Given the description of an element on the screen output the (x, y) to click on. 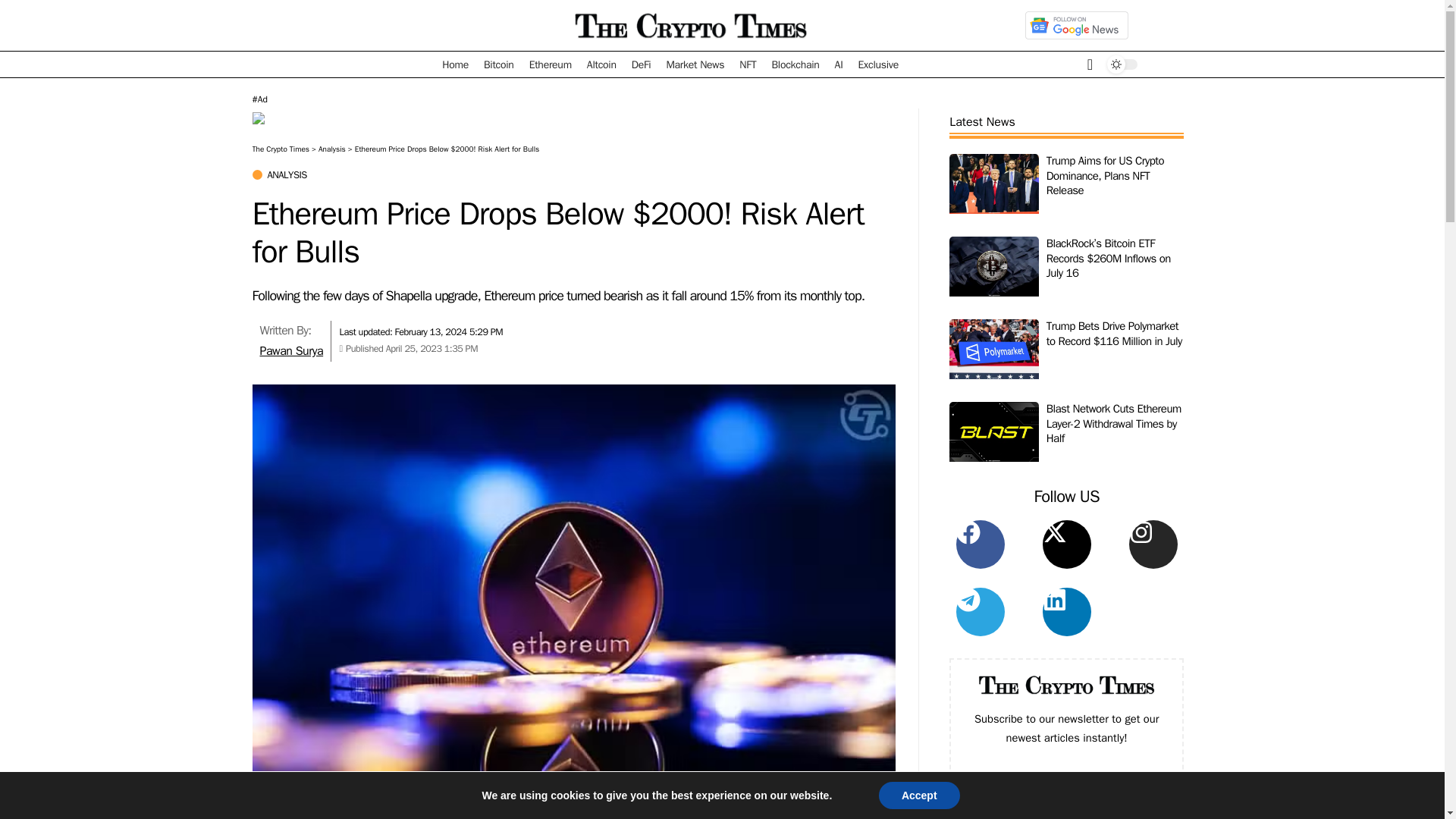
Trump Aims for US Crypto Dominance, Plans NFT Release (994, 189)
Home (454, 64)
Go to the Analysis Category archives. (332, 148)
DeFi (641, 64)
Bitcoin (498, 64)
Blockchain (794, 64)
Ethereum (550, 64)
Exclusive (877, 64)
NFT (747, 64)
AI (838, 64)
Market News (695, 64)
Go to The Crypto Times. (279, 148)
Altcoin (601, 64)
Blast Network Cuts Ethereum Layer-2 Withdrawal Times by Half (994, 437)
